Given the description of an element on the screen output the (x, y) to click on. 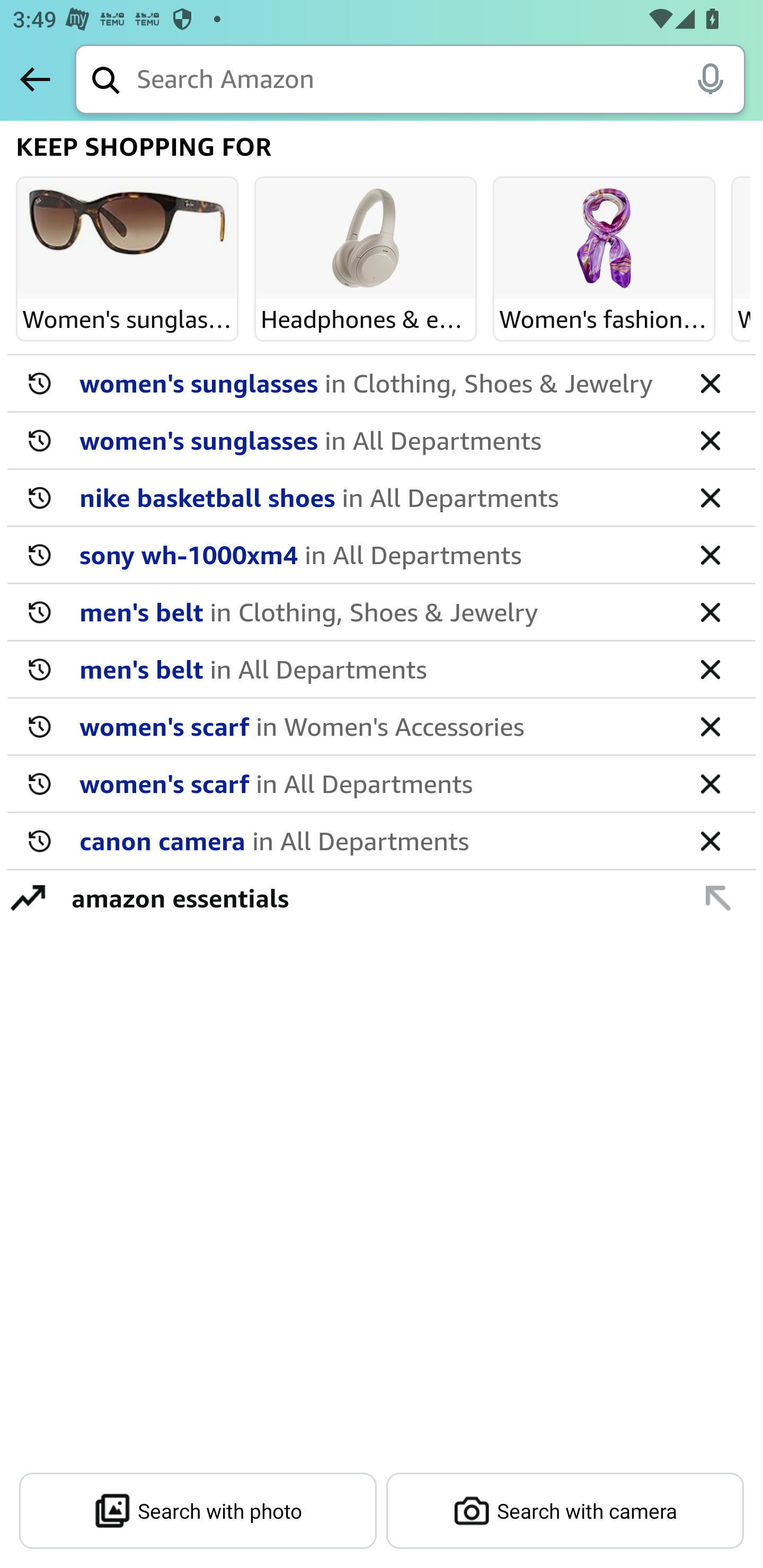
Search Amazon (440, 80)
Back (35, 78)
Alexa (710, 78)
Women's sunglasses (126, 238)
Headphones & earbuds (365, 238)
Women's fashion scarves (603, 238)
women's sunglasses delete (381, 383)
women's sunglasses (374, 382)
delete (710, 382)
women's sunglasses delete (381, 440)
women's sunglasses (374, 439)
delete (710, 439)
nike basketball shoes delete (381, 497)
nike basketball shoes (374, 496)
delete (710, 496)
sony wh-1000xm4 delete (381, 554)
sony wh-1000xm4 (374, 554)
delete (710, 554)
men's belt delete (381, 612)
men's belt (374, 611)
delete (710, 611)
men's belt delete (381, 669)
men's belt (374, 668)
delete (710, 668)
women's scarf delete (381, 726)
women's scarf (374, 725)
delete (710, 725)
women's scarf delete (381, 783)
women's scarf (374, 783)
delete (710, 783)
canon camera delete (381, 841)
canon camera (374, 840)
delete (710, 840)
amazon essentials append suggestion (381, 897)
amazon essentials (370, 897)
append suggestion (718, 897)
Search with photo (197, 1510)
Search with camera (564, 1510)
